Given the description of an element on the screen output the (x, y) to click on. 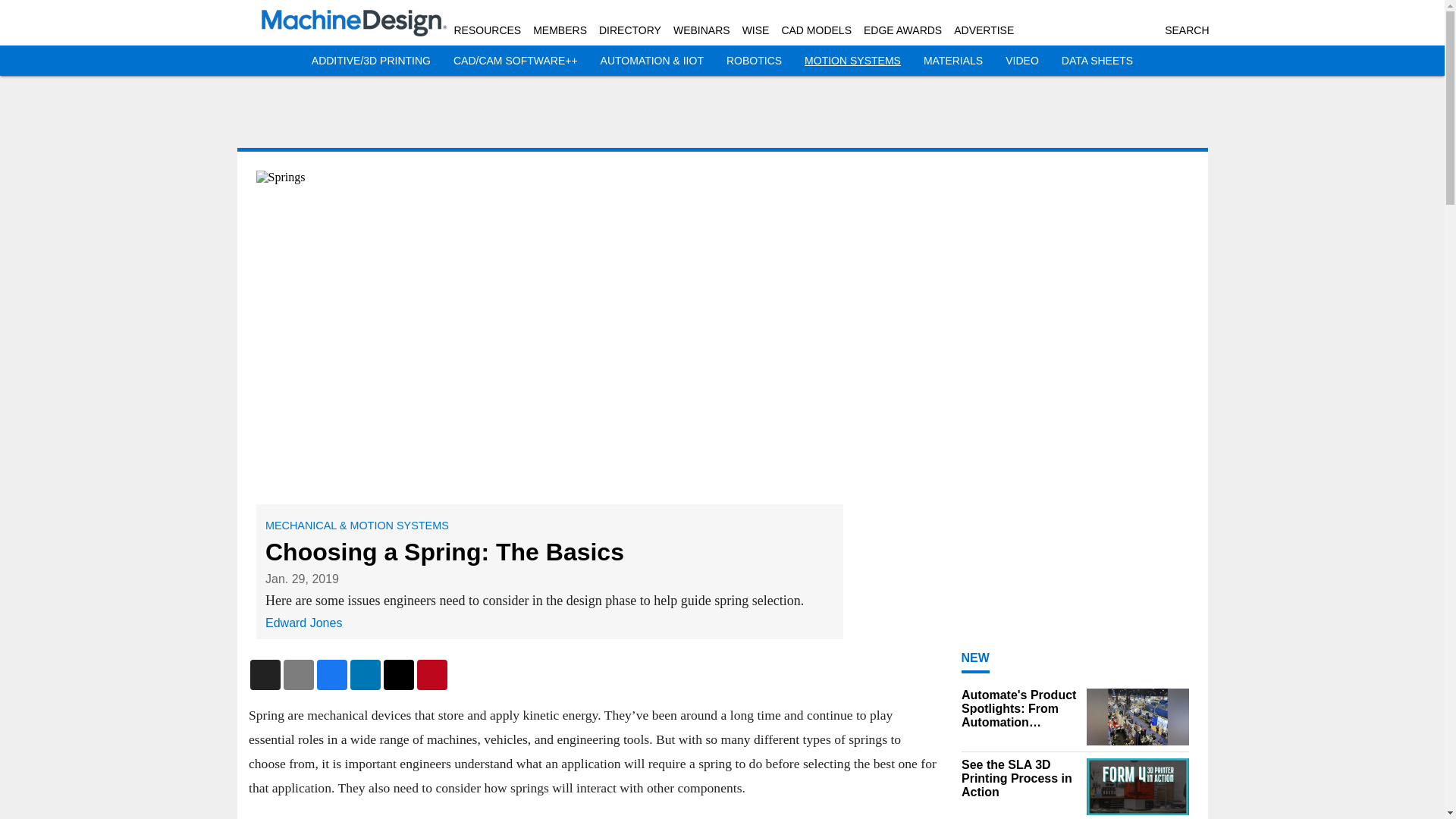
WEBINARS (701, 30)
DATA SHEETS (1096, 60)
MOTION SYSTEMS (853, 60)
ADVERTISE (983, 30)
WISE (756, 30)
VIDEO (1022, 60)
EDGE AWARDS (902, 30)
MATERIALS (952, 60)
CAD MODELS (815, 30)
ROBOTICS (753, 60)
RESOURCES (486, 30)
Edward Jones (303, 622)
MEMBERS (559, 30)
SEARCH (1186, 30)
